Given the description of an element on the screen output the (x, y) to click on. 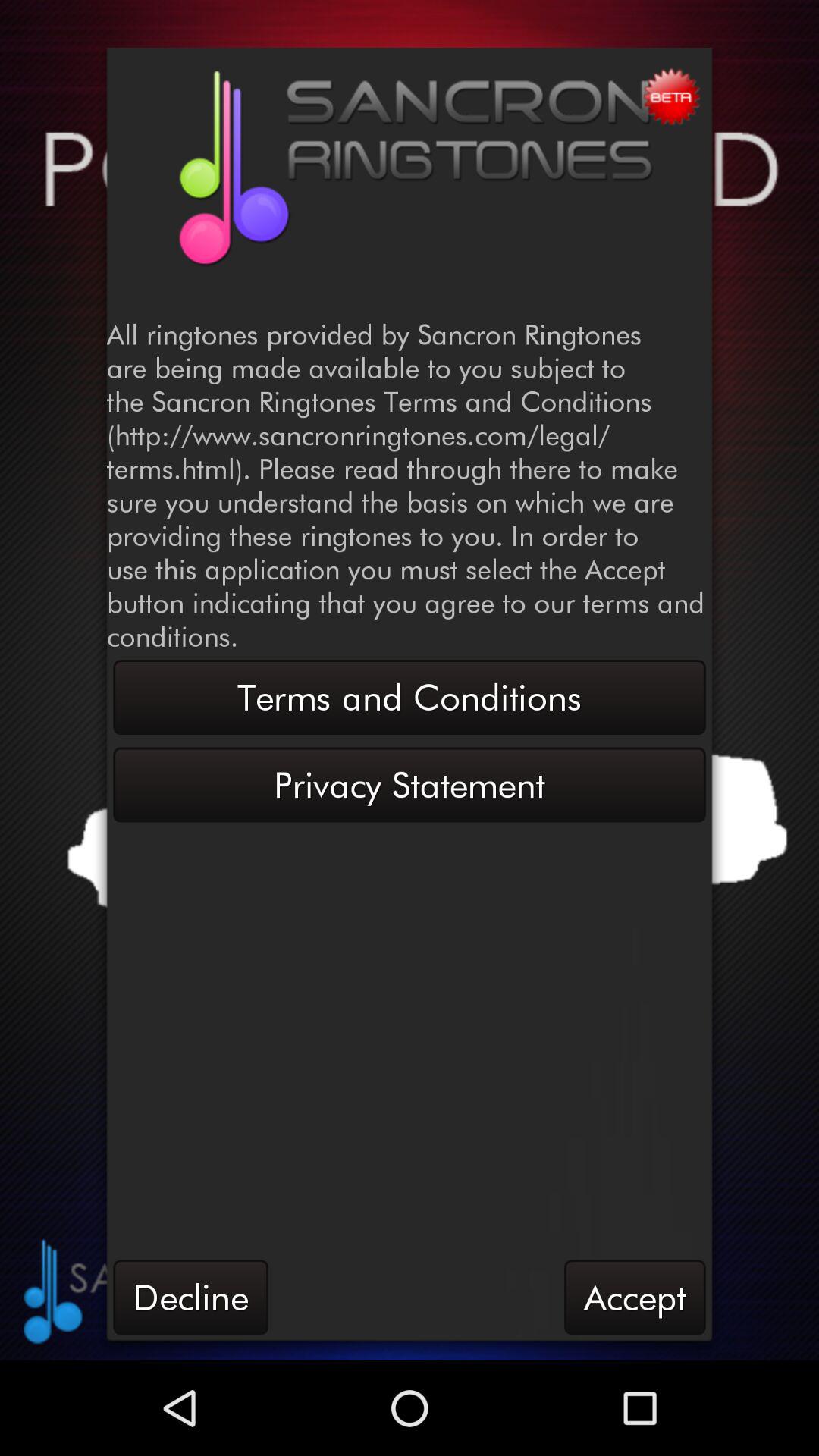
flip until accept (634, 1296)
